Given the description of an element on the screen output the (x, y) to click on. 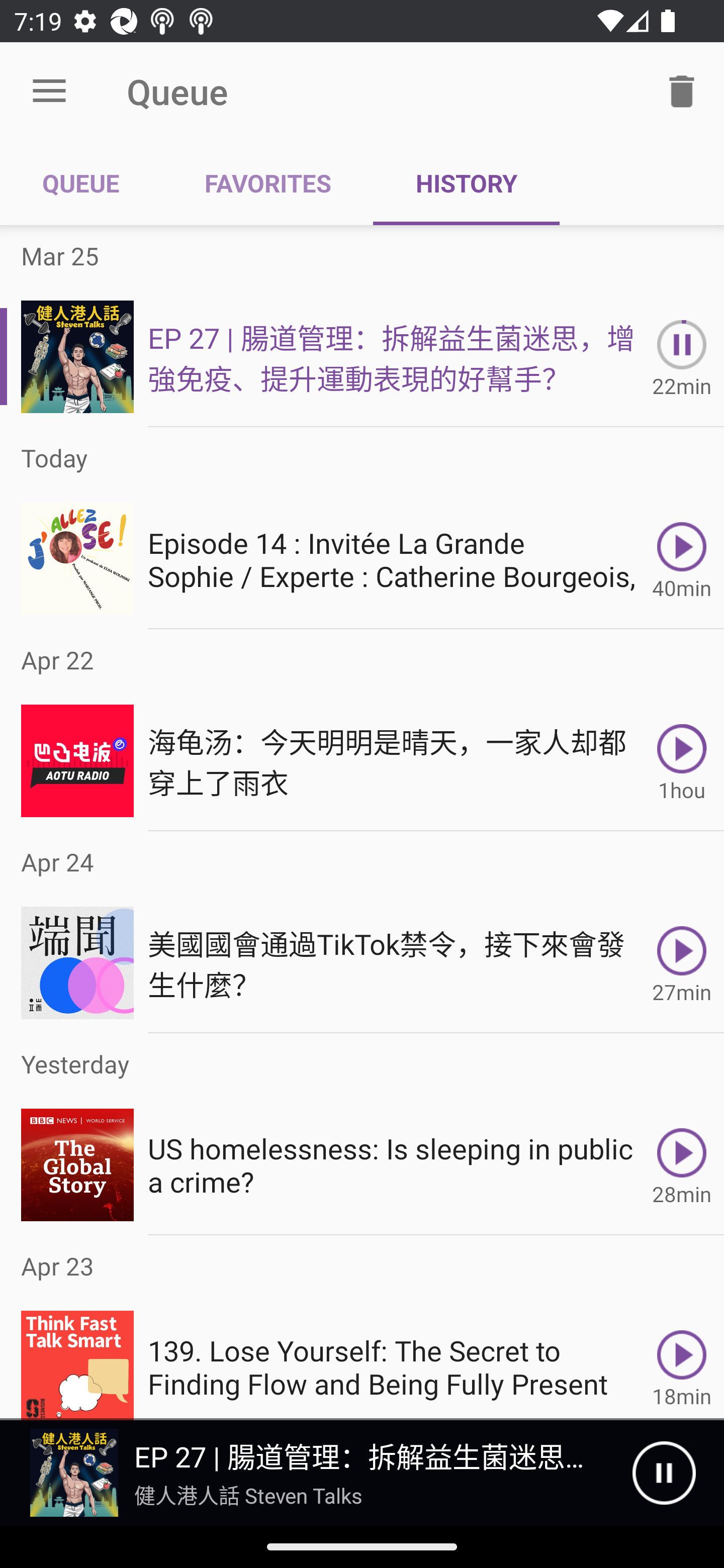
Open menu (49, 91)
Clear History (681, 90)
QUEUE (81, 183)
FAVORITES (267, 183)
HISTORY (465, 183)
Play 22min (681, 356)
Play 40min (681, 558)
Apr 22 海龟汤：今天明明是晴天，一家人却都穿上了雨衣 Play 1hou (362, 729)
Play 1hou (681, 760)
Apr 24 美國國會通過TikTok禁令，接下來會發生什麼？ Play 27min (362, 932)
Play 27min (681, 962)
Play 28min (681, 1164)
Play 18min (681, 1358)
Pause (663, 1472)
